Given the description of an element on the screen output the (x, y) to click on. 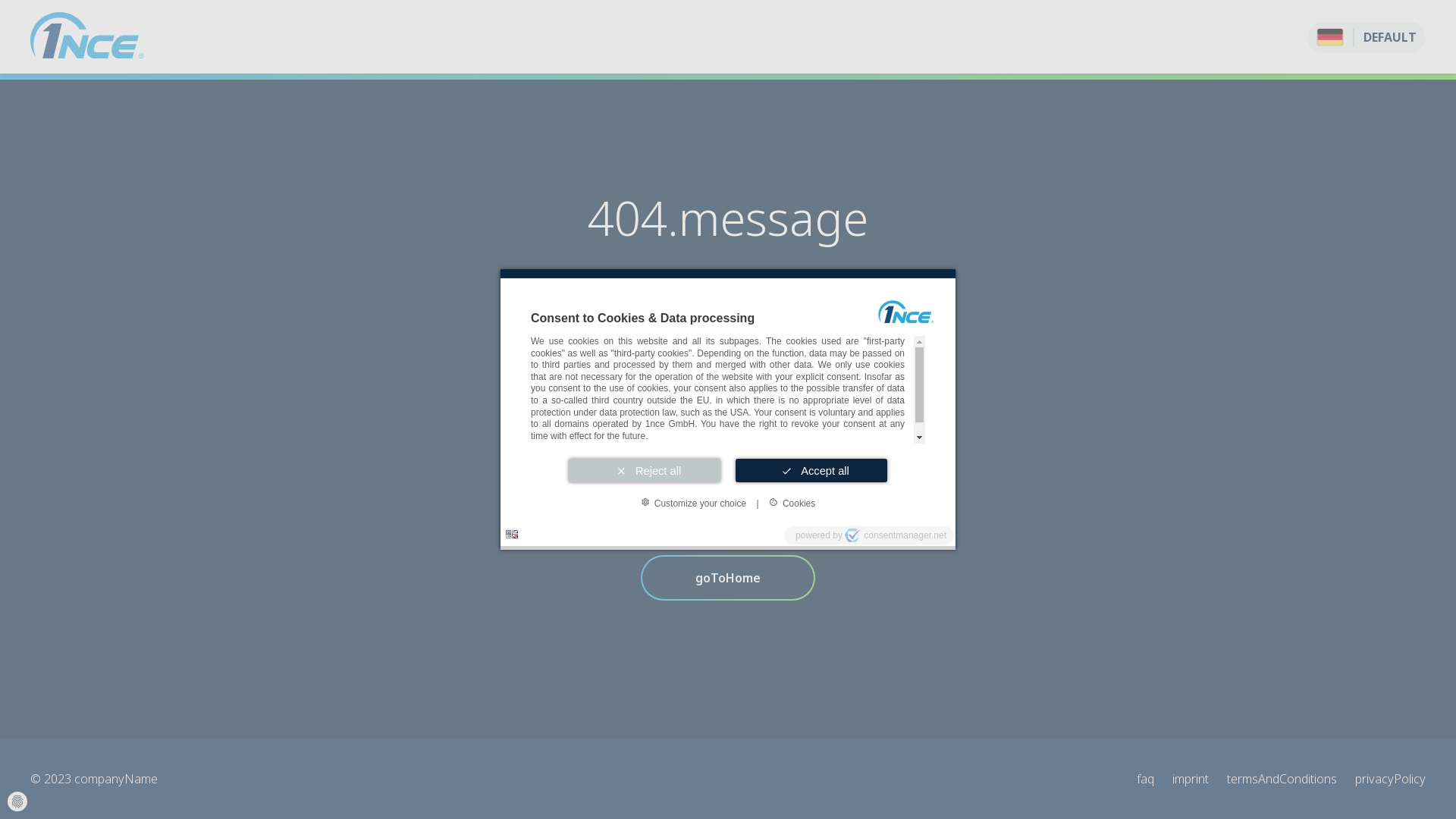
termsAndConditions Element type: text (1281, 778)
imprint Element type: text (1190, 778)
Cookies Element type: text (791, 502)
Accept all Element type: text (811, 470)
Language: en Element type: hover (511, 533)
goToHome Element type: text (727, 577)
privacyPolicy Element type: text (1390, 778)
faq Element type: text (1145, 778)
Privacy settings Element type: hover (17, 801)
Reject all Element type: text (644, 470)
Language: en Element type: hover (511, 534)
consentmanager.net Element type: text (895, 534)
DEFAULT Element type: text (1366, 36)
Customize your choice Element type: text (693, 502)
